Given the description of an element on the screen output the (x, y) to click on. 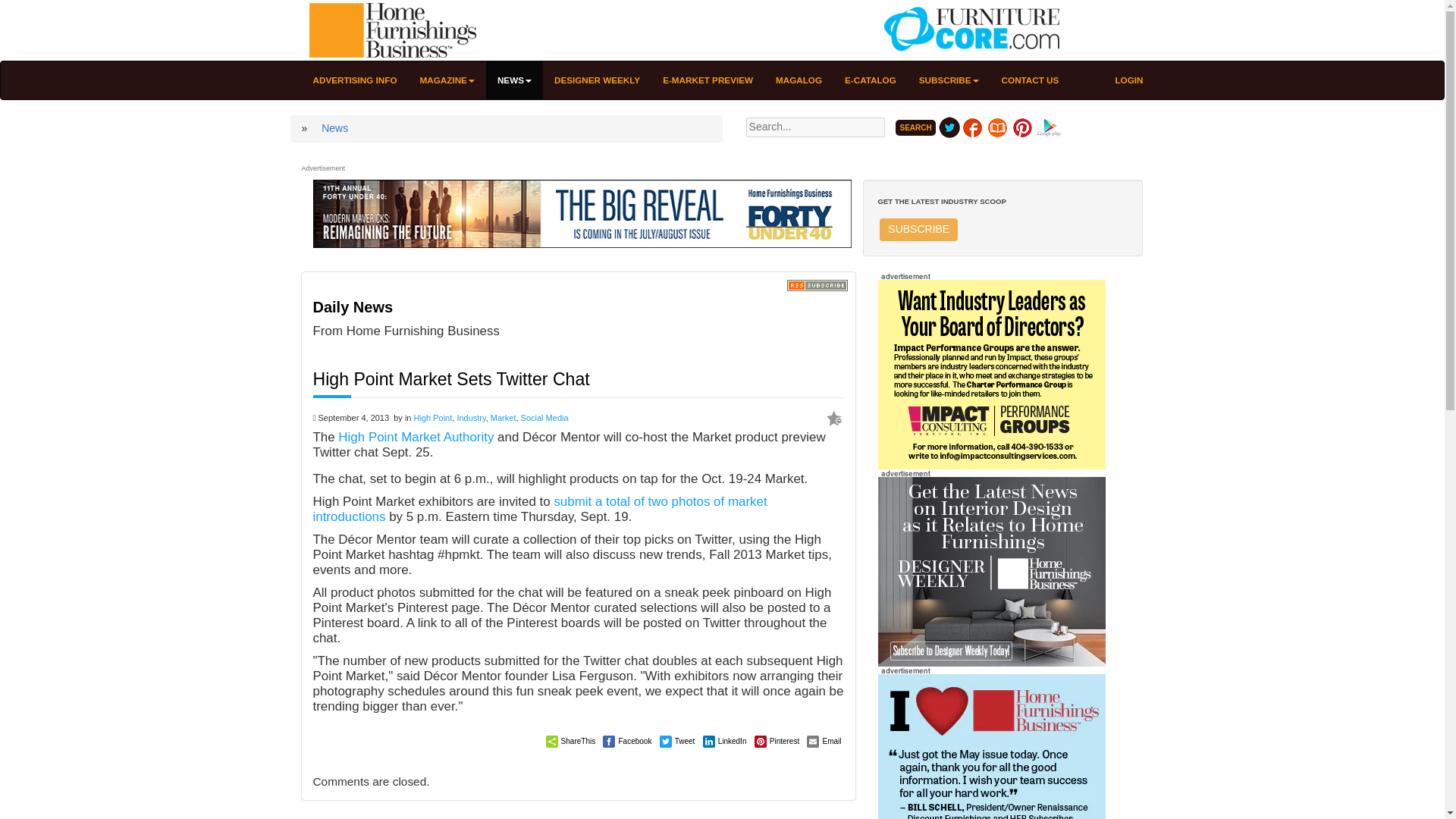
SEARCH (914, 127)
MAGALOG (798, 80)
Performance Groups (991, 374)
CONTACT US (1030, 80)
MAGAZINE (447, 80)
Login (1128, 80)
HFB Designer Weekly (991, 570)
NEWS (514, 80)
LOGIN (1128, 80)
Performance Groups (991, 373)
FurnitureCore (968, 29)
DESIGNER WEEKLY (596, 80)
You must be logged in to bookmark (834, 418)
SUBSCRIBE (918, 229)
E-CATALOG (869, 80)
